Given the description of an element on the screen output the (x, y) to click on. 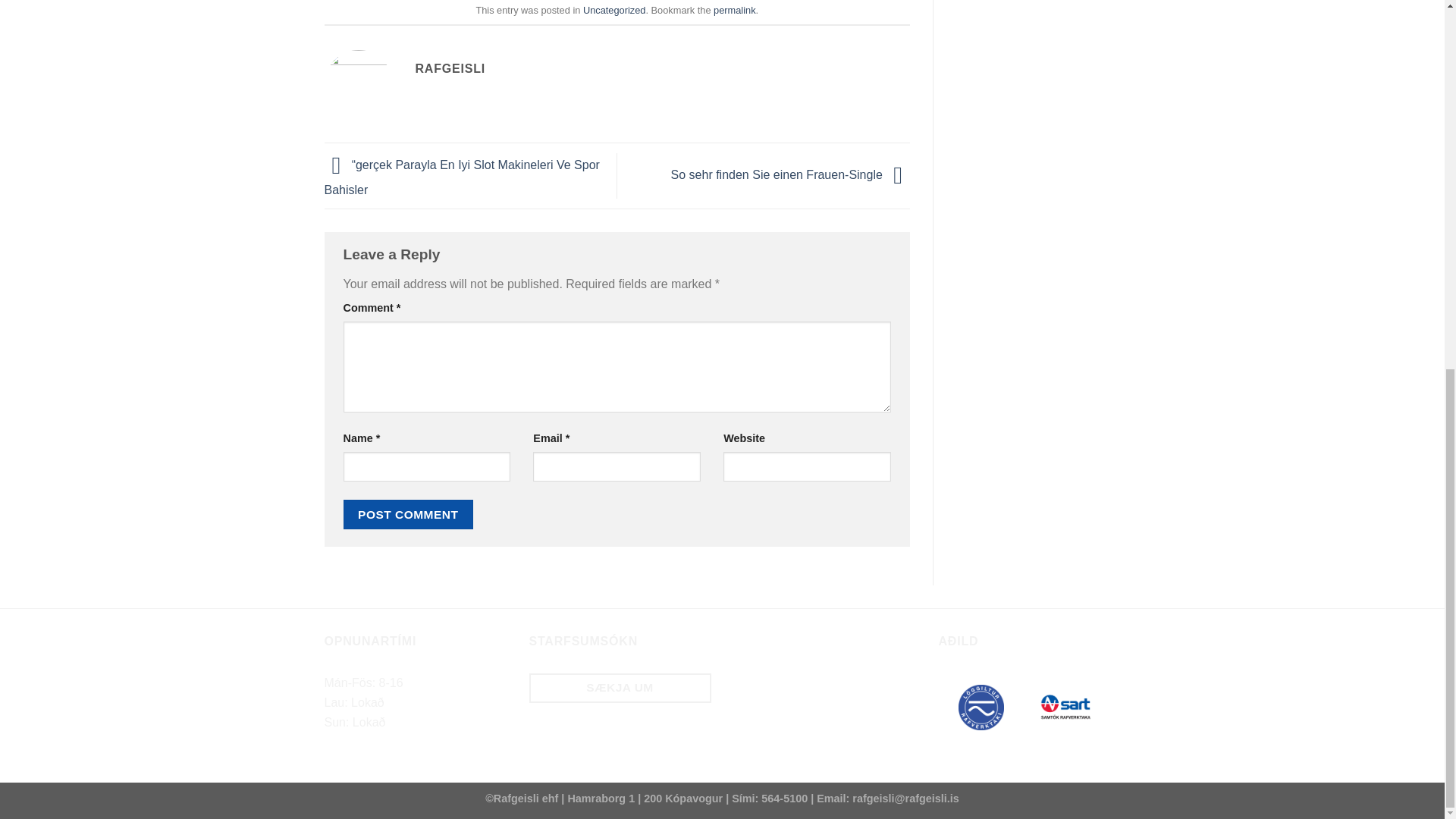
Post Comment (407, 514)
Uncategorized (614, 9)
Post Comment (407, 514)
permalink (734, 9)
So sehr finden Sie einen Frauen-Single (790, 174)
Permalink to Selecting the Best Data Antivirus (734, 9)
